Given the description of an element on the screen output the (x, y) to click on. 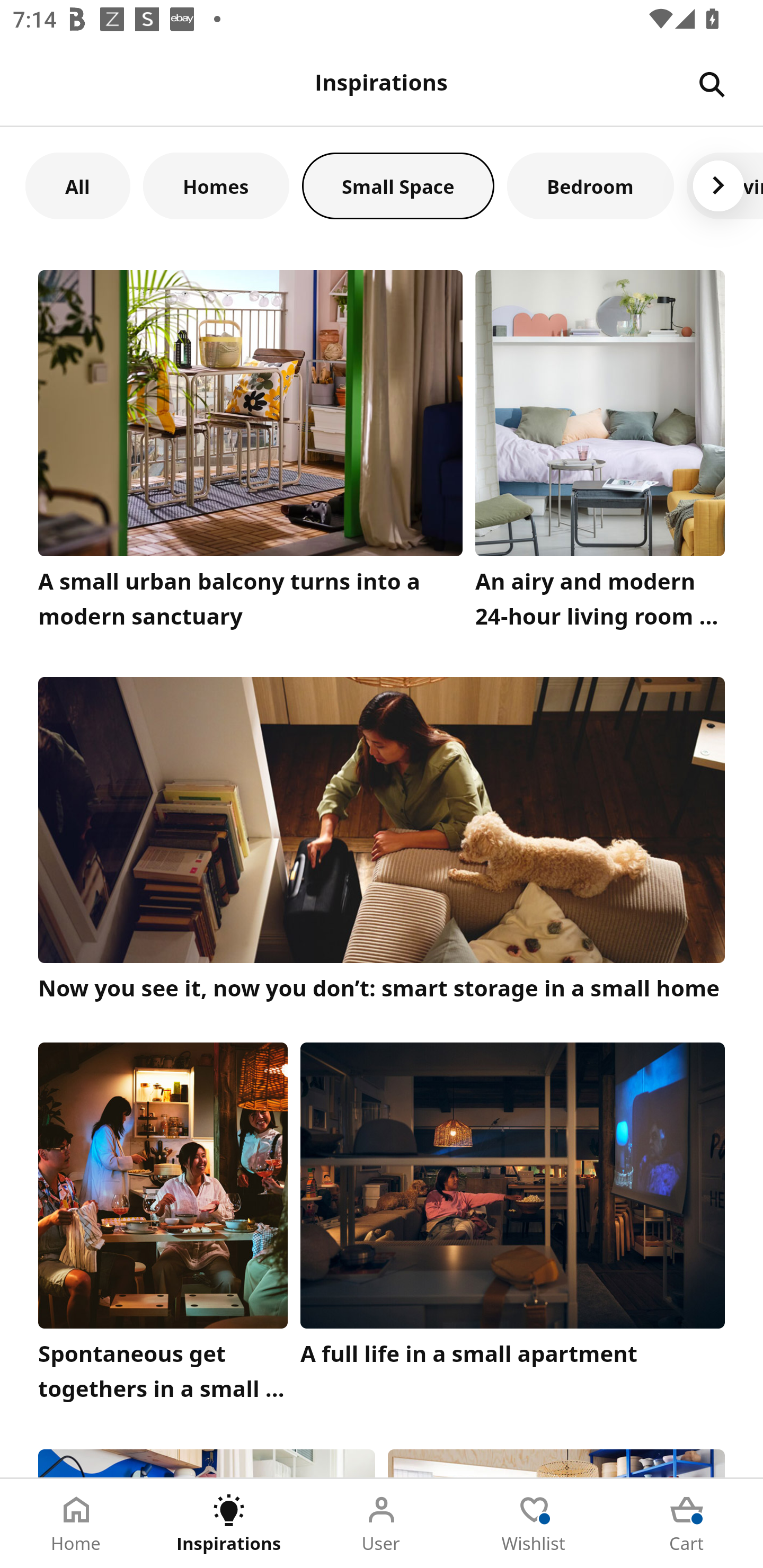
All (77, 185)
Homes (216, 185)
Small Space (398, 185)
Bedroom (590, 185)
An airy and modern 24-hour living room oasis (599, 453)
Spontaneous get togethers in a small apartment (162, 1226)
A full life in a small apartment (512, 1226)
Home
Tab 1 of 5 (76, 1522)
Inspirations
Tab 2 of 5 (228, 1522)
User
Tab 3 of 5 (381, 1522)
Wishlist
Tab 4 of 5 (533, 1522)
Cart
Tab 5 of 5 (686, 1522)
